Given the description of an element on the screen output the (x, y) to click on. 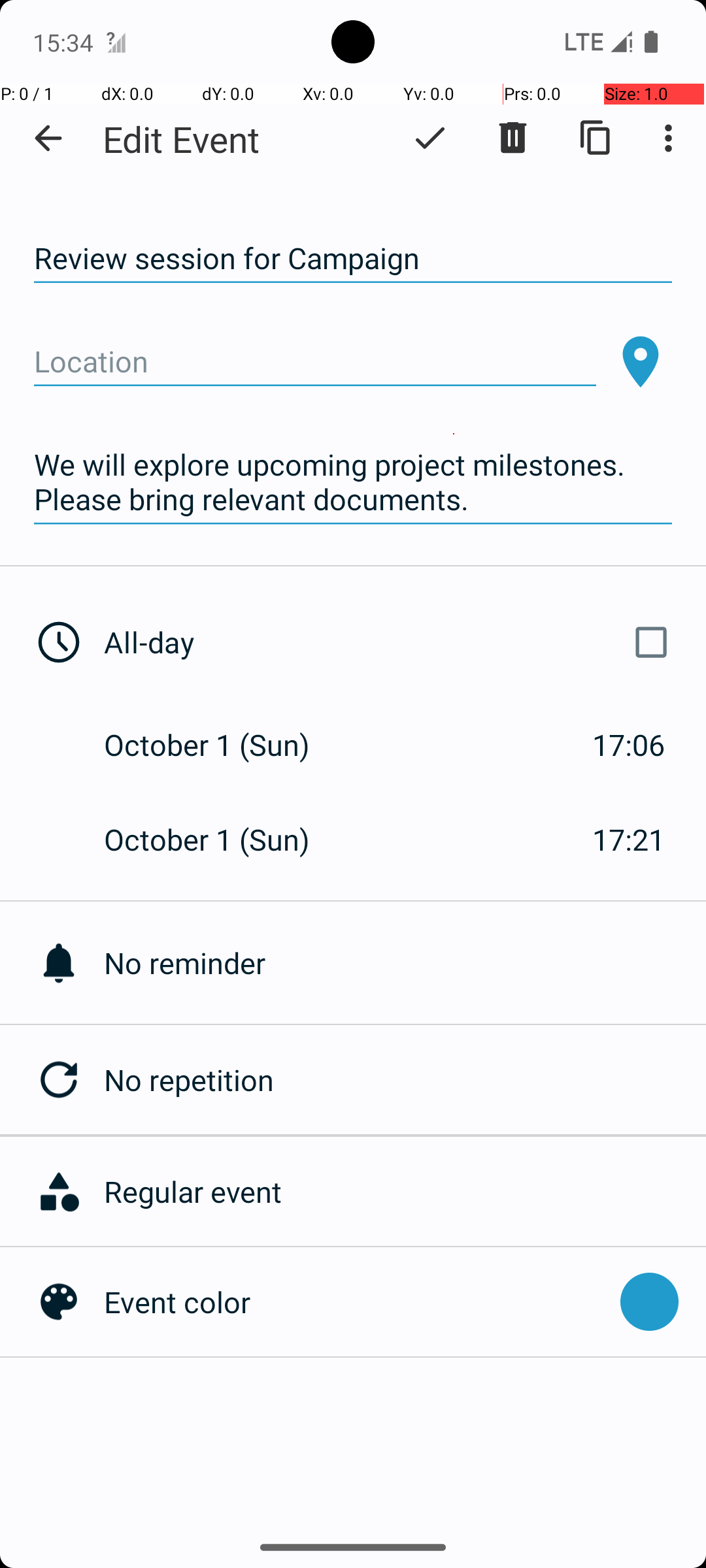
We will explore upcoming project milestones. Please bring relevant documents. Element type: android.widget.EditText (352, 482)
October 1 (Sun) Element type: android.widget.TextView (220, 744)
17:06 Element type: android.widget.TextView (628, 744)
17:21 Element type: android.widget.TextView (628, 838)
